Given the description of an element on the screen output the (x, y) to click on. 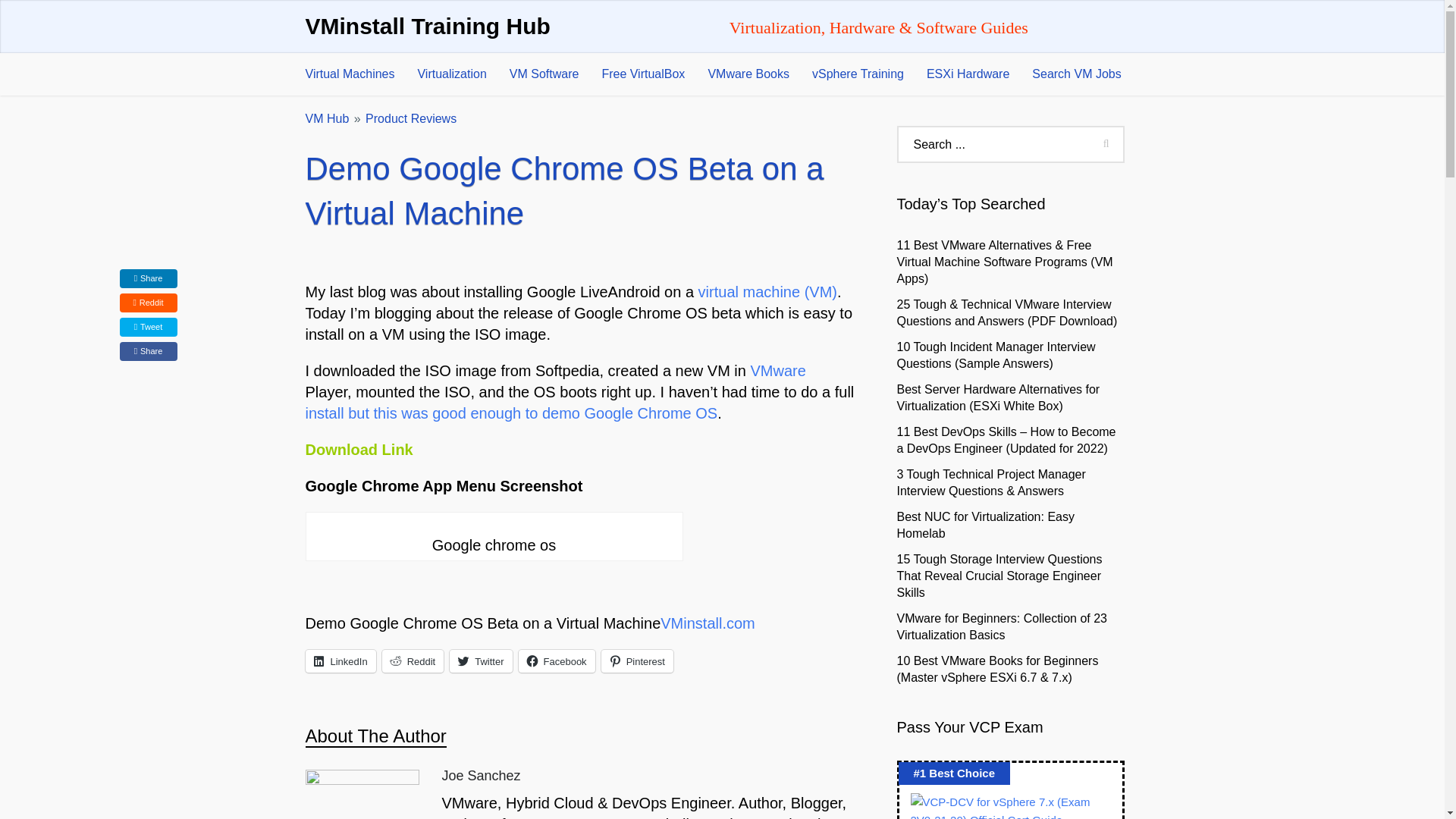
Download Google Chrome OS beta (358, 449)
Reddit (412, 661)
What is Virtualization for Beginners? (451, 74)
LinkedIn (339, 661)
Introduction to Virtual Machines (767, 291)
Facebook (556, 661)
Best VMware vSphere Training for Beginners (857, 74)
Search VM Jobs (1076, 74)
Share (148, 278)
VM Software (544, 74)
Download Link (358, 449)
VMinstall.com (707, 623)
VM Hub (326, 118)
VMware Books (747, 74)
ESXi Hardware (967, 74)
